Given the description of an element on the screen output the (x, y) to click on. 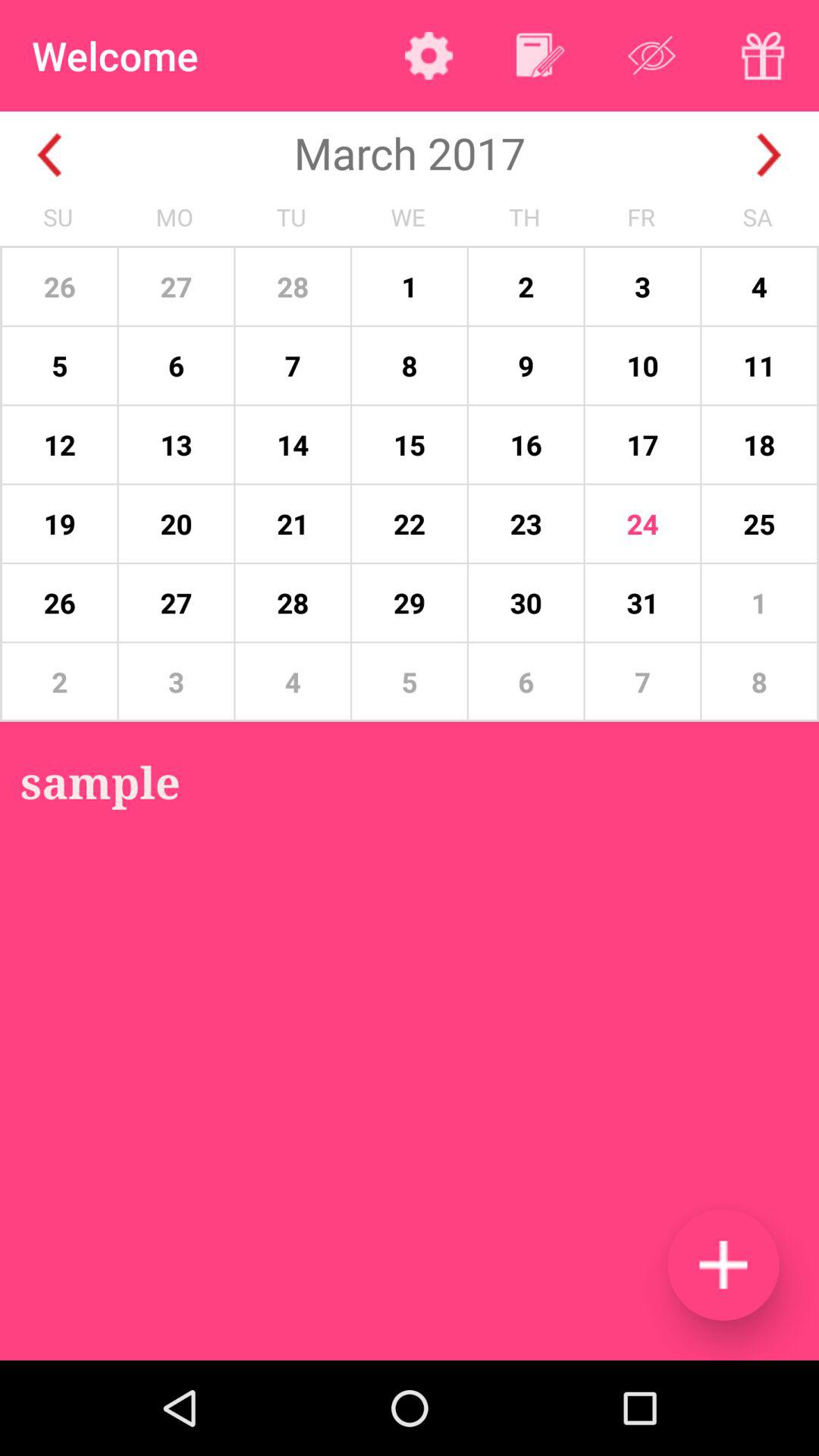
add appointment (723, 1264)
